Given the description of an element on the screen output the (x, y) to click on. 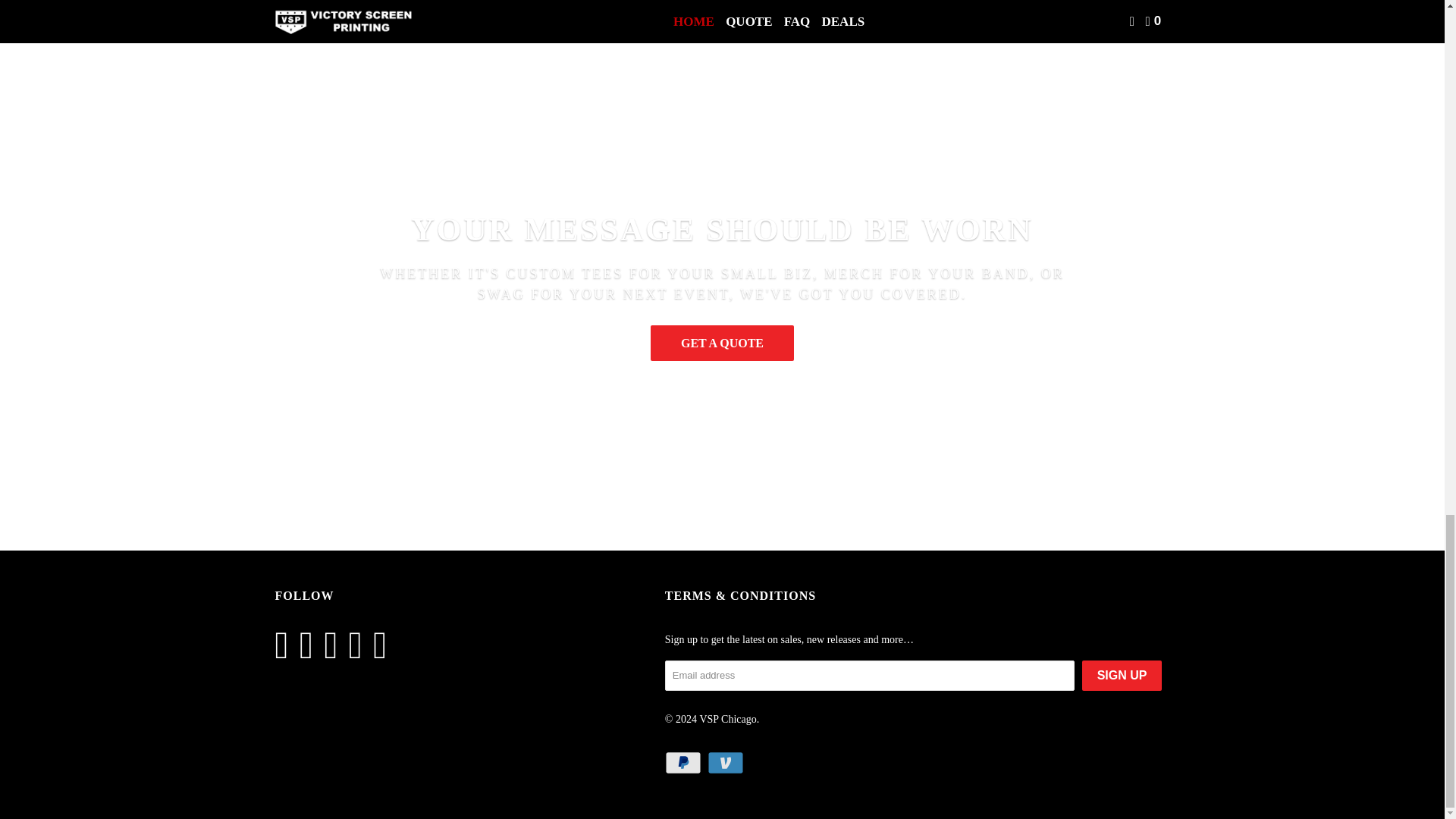
PayPal (684, 762)
GET A QUOTE (721, 343)
Sign Up (1121, 675)
Venmo (726, 762)
VSP Chicago (726, 718)
Sign Up (1121, 675)
